Given the description of an element on the screen output the (x, y) to click on. 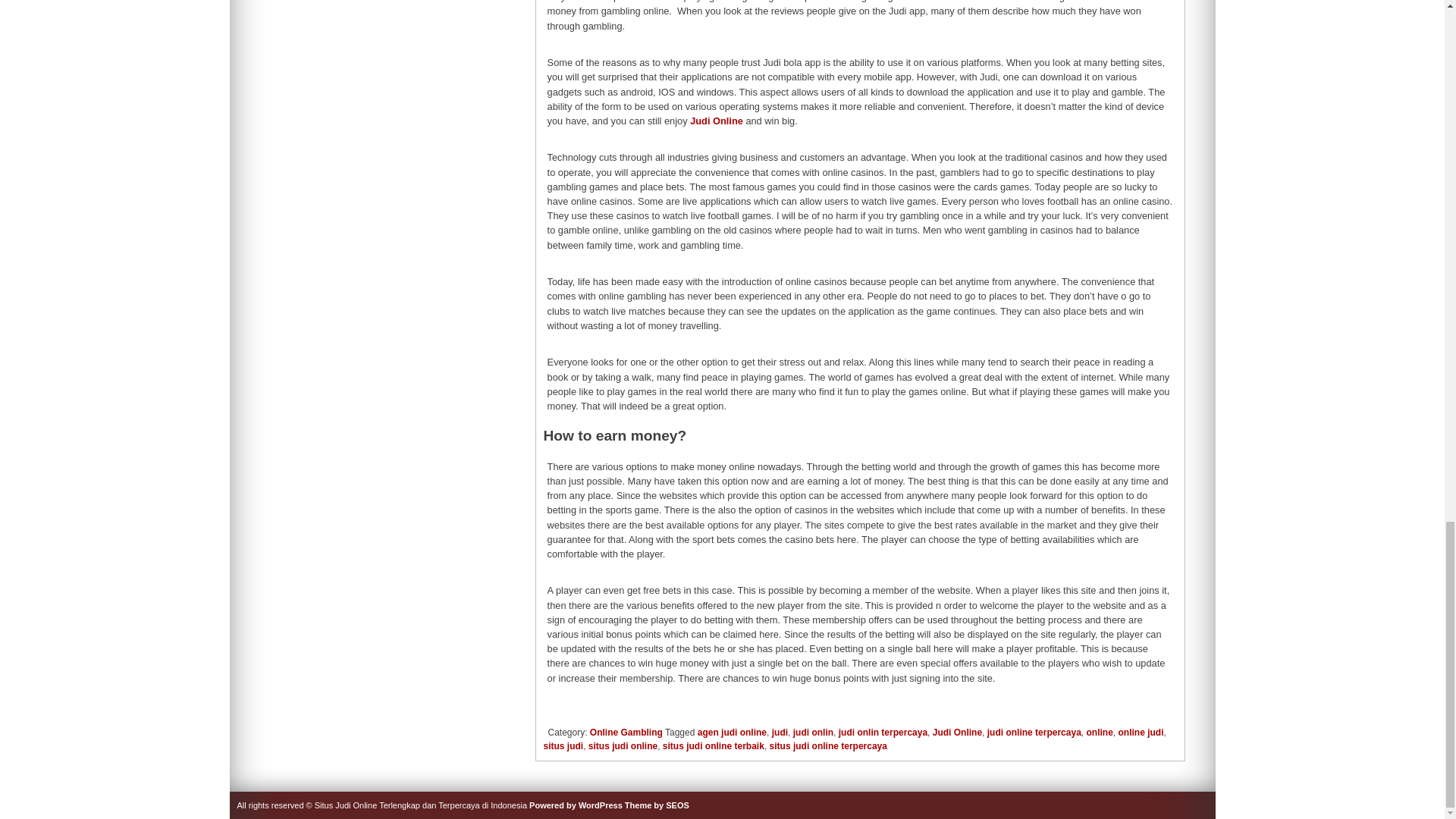
Judi Online (716, 120)
Online Gambling (625, 732)
judi online terpercaya (1034, 732)
judi onlin terpercaya (882, 732)
agen judi online (732, 732)
judi onlin (812, 732)
Judi Online (957, 732)
Judi Online (716, 120)
judi (779, 732)
Seos free wordpress themes (656, 804)
